Given the description of an element on the screen output the (x, y) to click on. 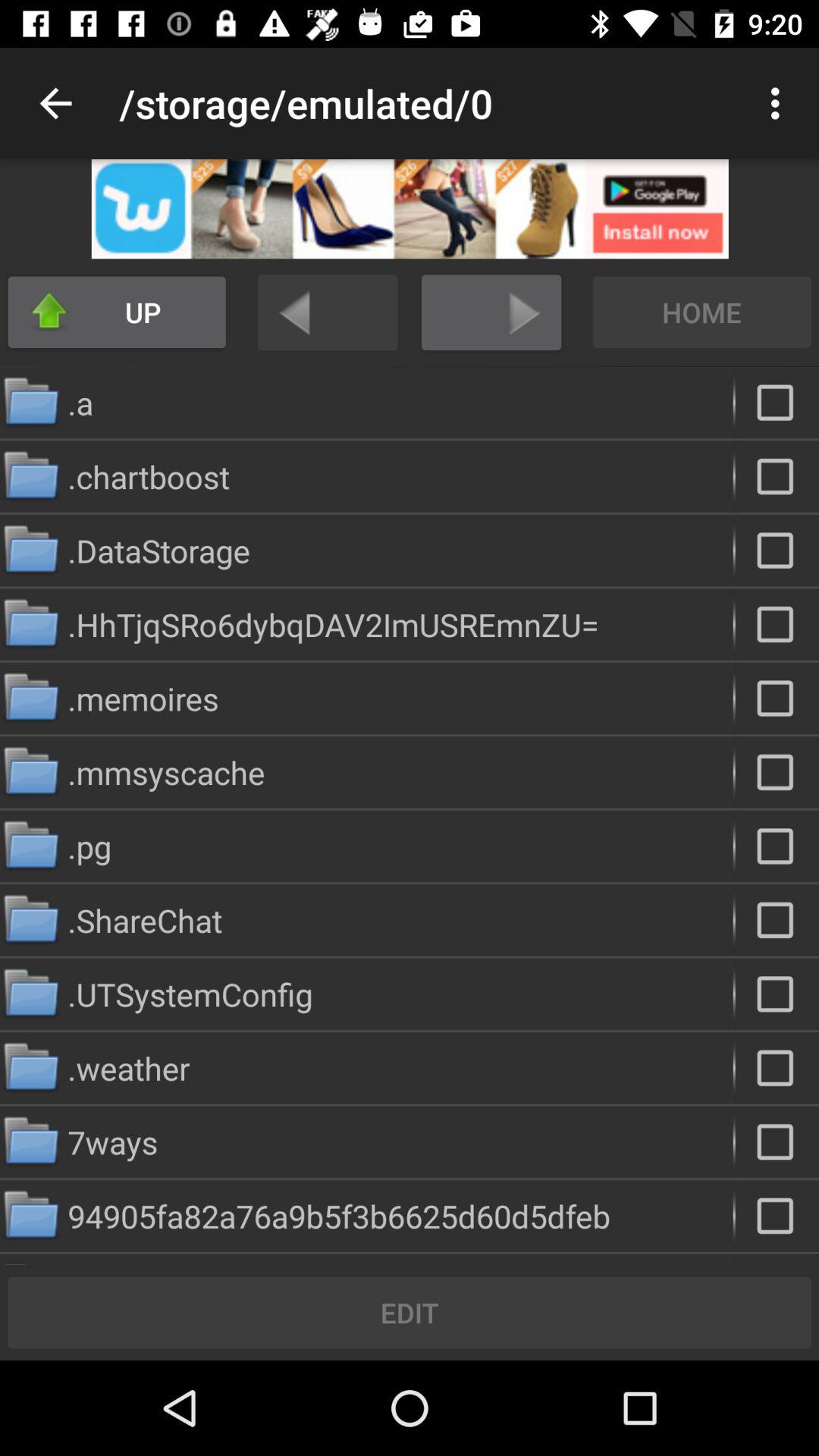
press back button (327, 312)
